Given the description of an element on the screen output the (x, y) to click on. 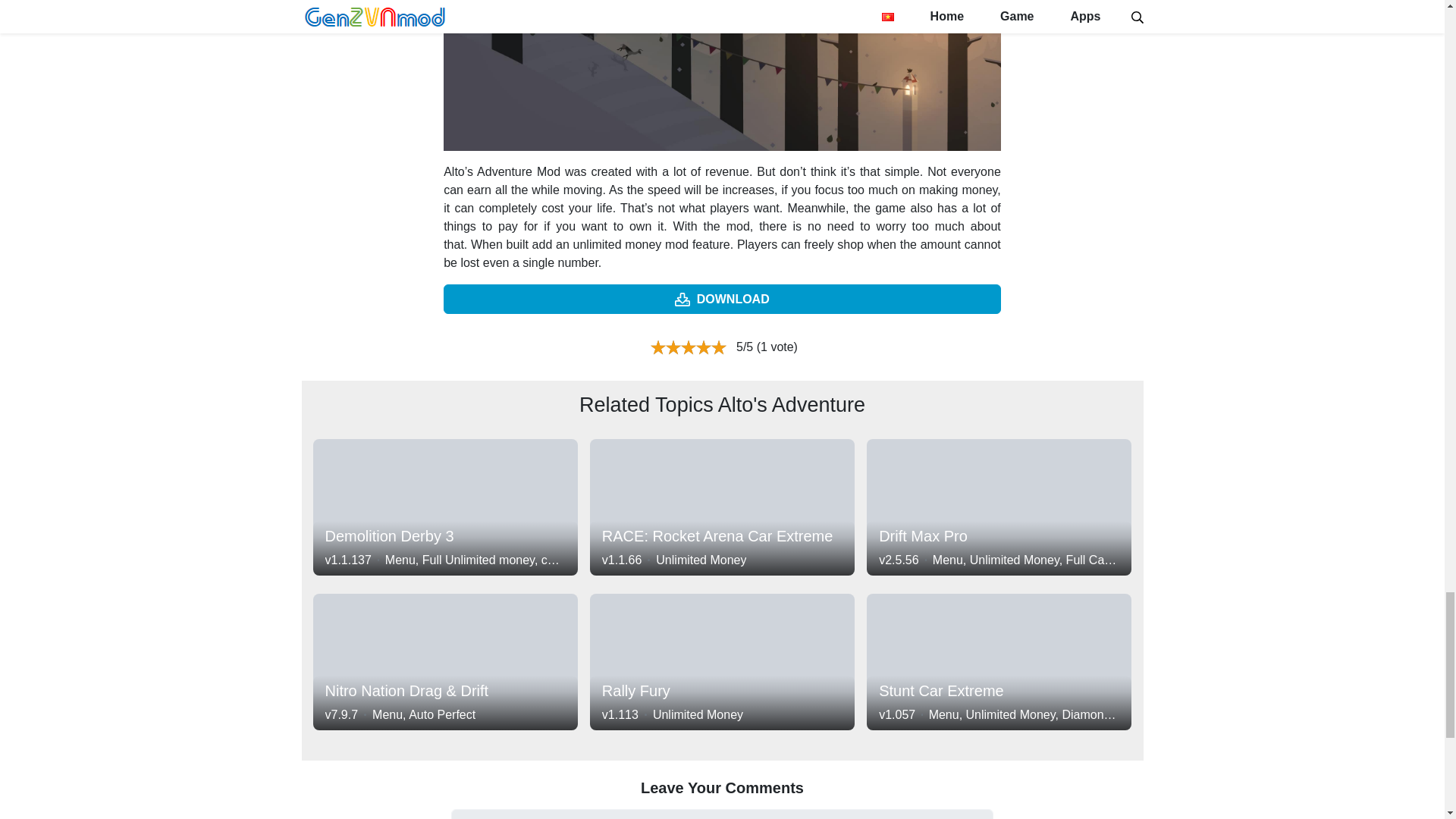
DOWNLOAD (722, 298)
